Given the description of an element on the screen output the (x, y) to click on. 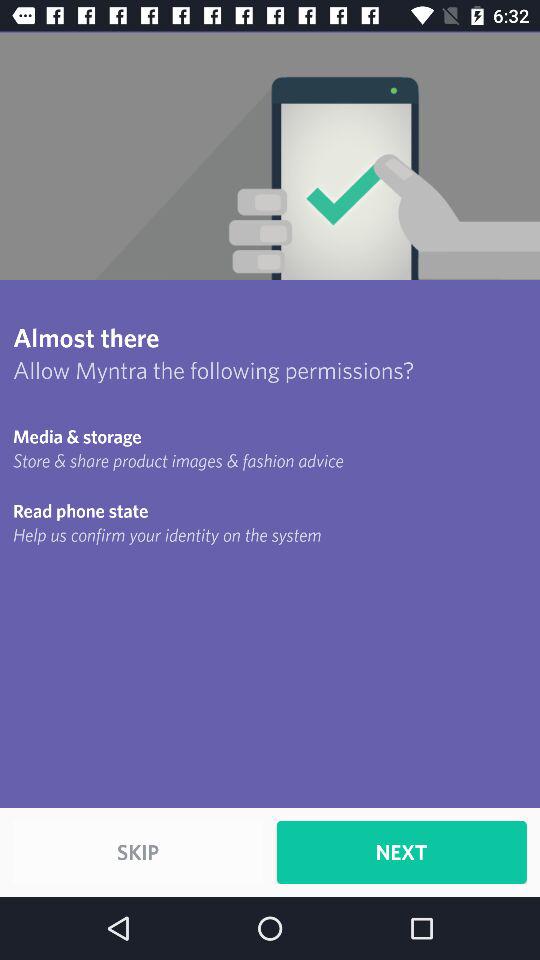
launch item to the right of skip item (401, 851)
